Given the description of an element on the screen output the (x, y) to click on. 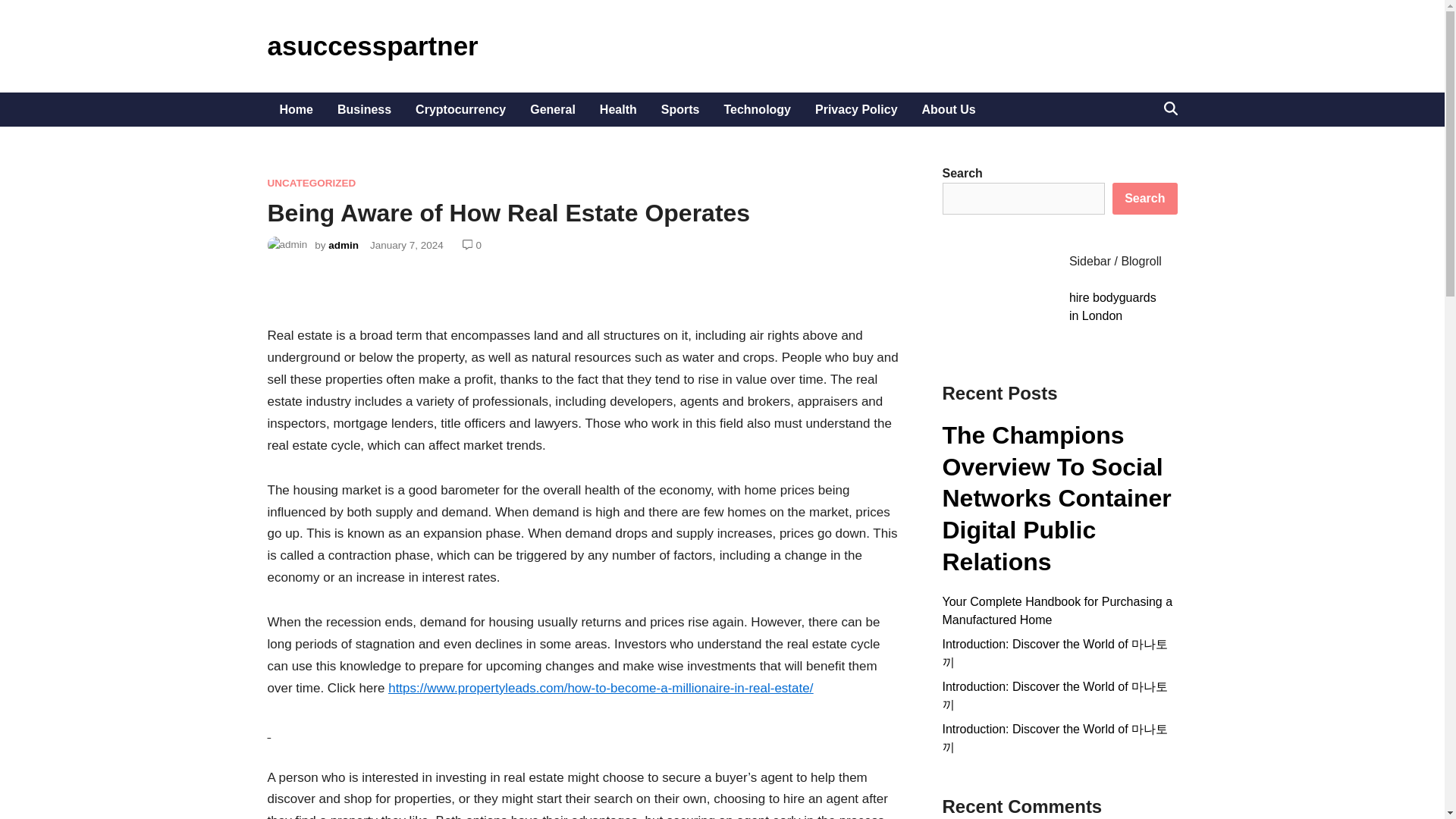
Your Complete Handbook for Purchasing a Manufactured Home (1057, 610)
UNCATEGORIZED (310, 183)
Technology (757, 109)
Sports (680, 109)
Cryptocurrency (460, 109)
hire bodyguards in London (1112, 306)
Home (295, 109)
Health (618, 109)
January 7, 2024 (406, 244)
Privacy Policy (856, 109)
About Us (949, 109)
General (553, 109)
Search (1144, 198)
admin (343, 244)
